Given the description of an element on the screen output the (x, y) to click on. 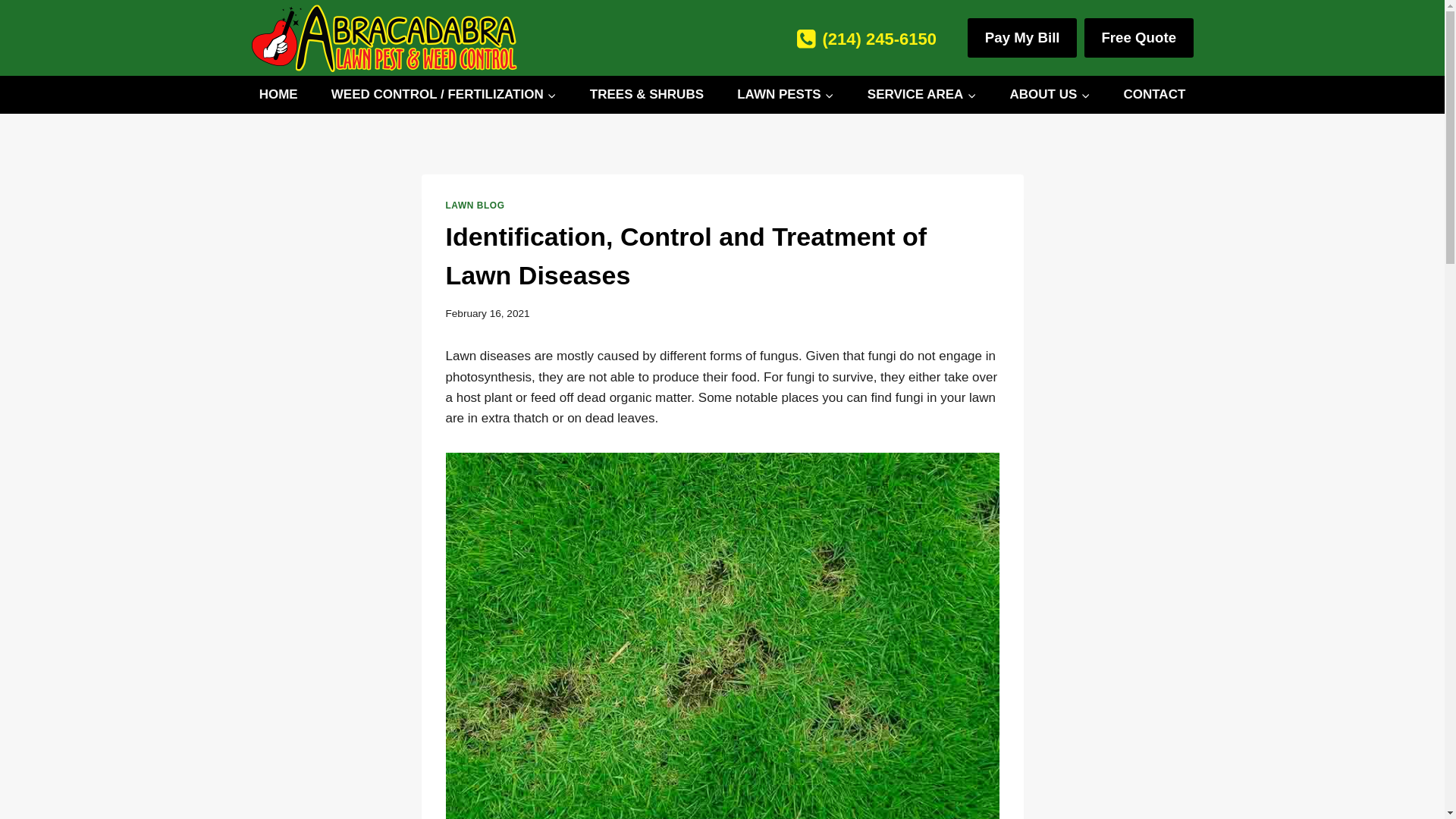
Pay My Bill (1022, 37)
HOME (278, 94)
SERVICE AREA (922, 94)
LAWN PESTS (785, 94)
Free Quote (1138, 37)
